Given the description of an element on the screen output the (x, y) to click on. 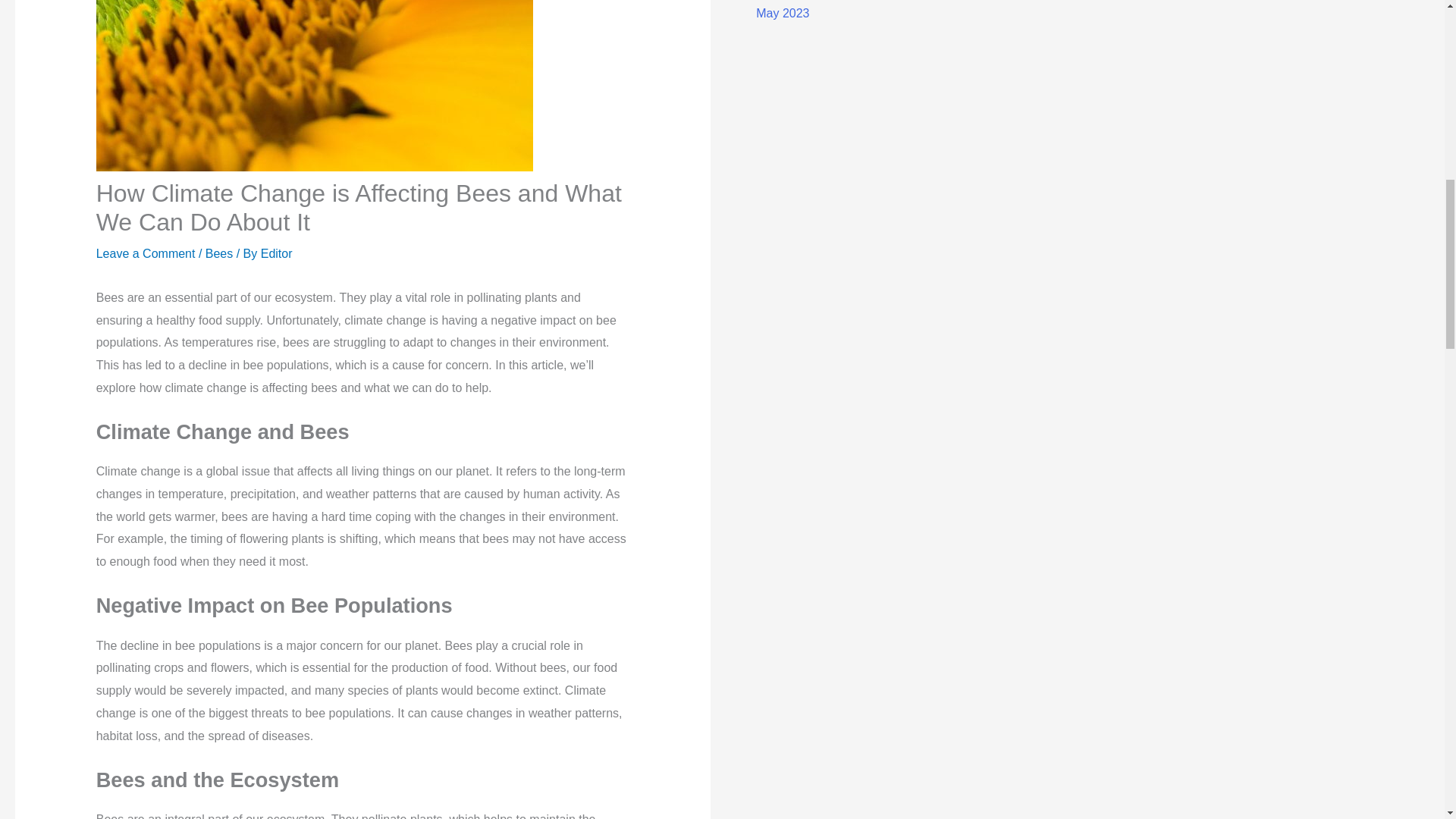
Bees (218, 253)
Leave a Comment (145, 253)
View all posts by Editor (276, 253)
Editor (276, 253)
